Given the description of an element on the screen output the (x, y) to click on. 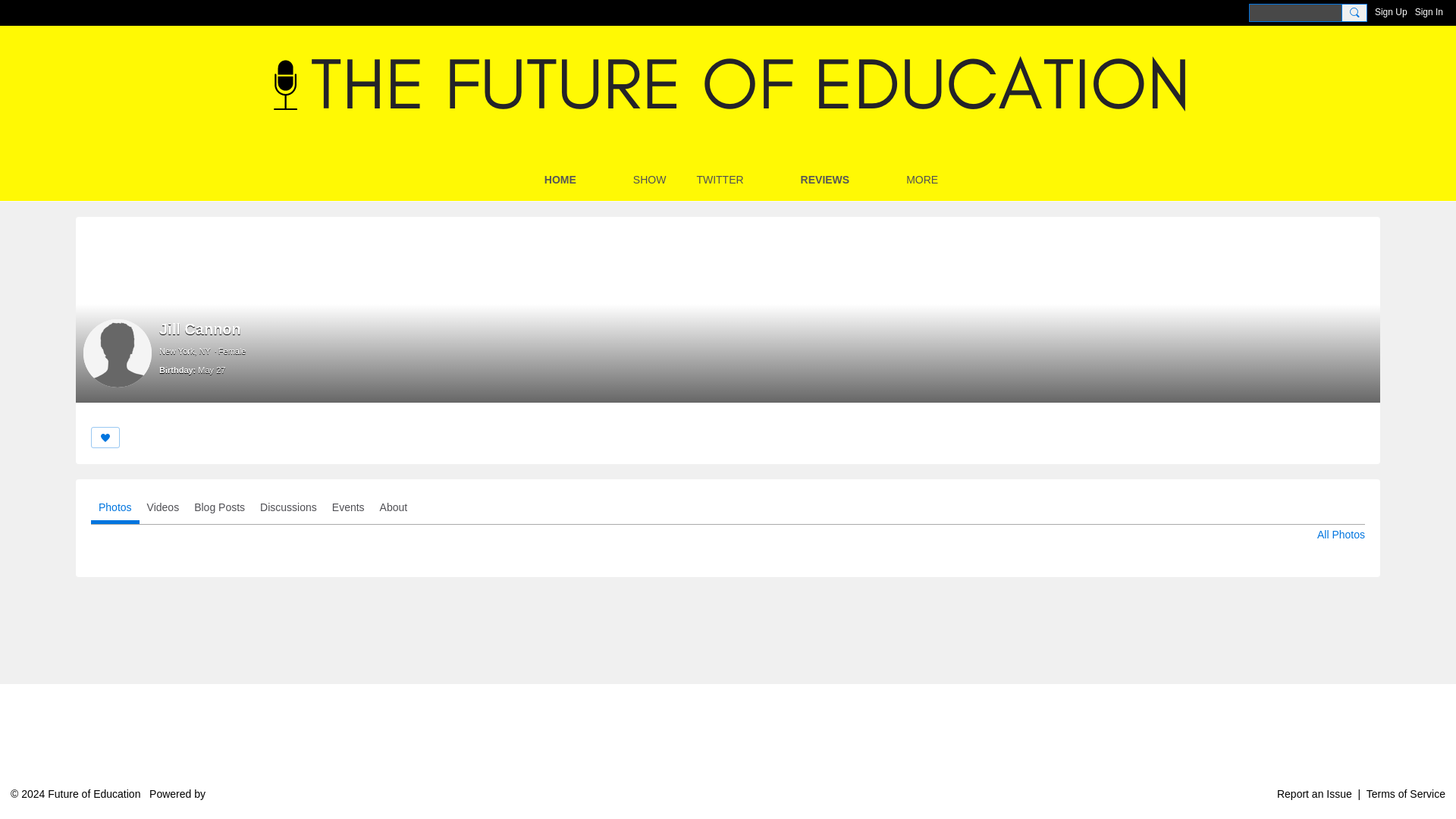
Sign In (1428, 12)
All Photos (1341, 534)
REVIEWS (825, 178)
HOME (560, 178)
Like (104, 436)
Sign Up (1390, 12)
